Given the description of an element on the screen output the (x, y) to click on. 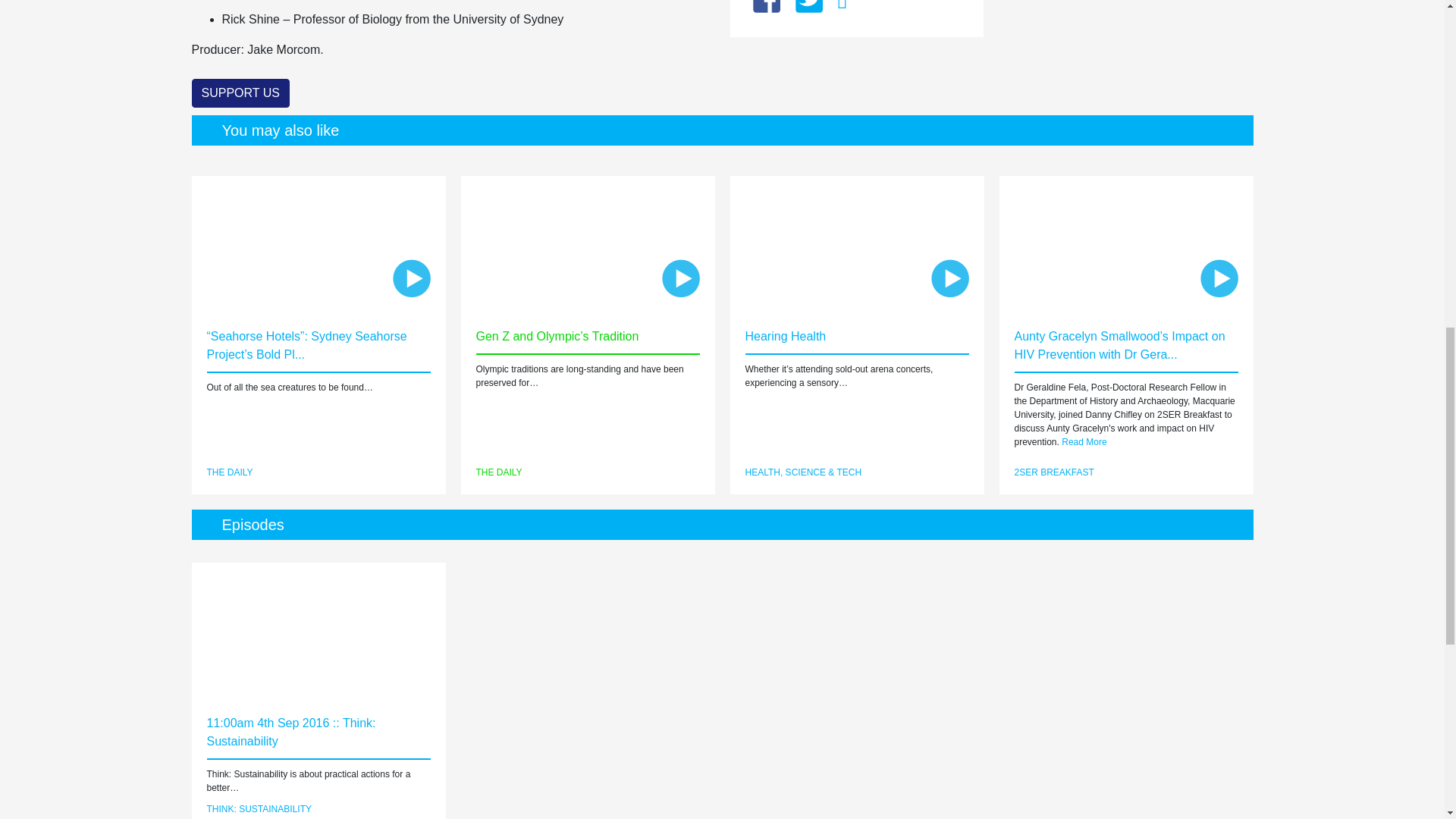
SUPPORT US (239, 92)
Tweet (842, 5)
Tweet (808, 2)
Tweet (808, 2)
Share on Facebook (765, 2)
URL (842, 5)
Share on Facebook (765, 2)
